Given the description of an element on the screen output the (x, y) to click on. 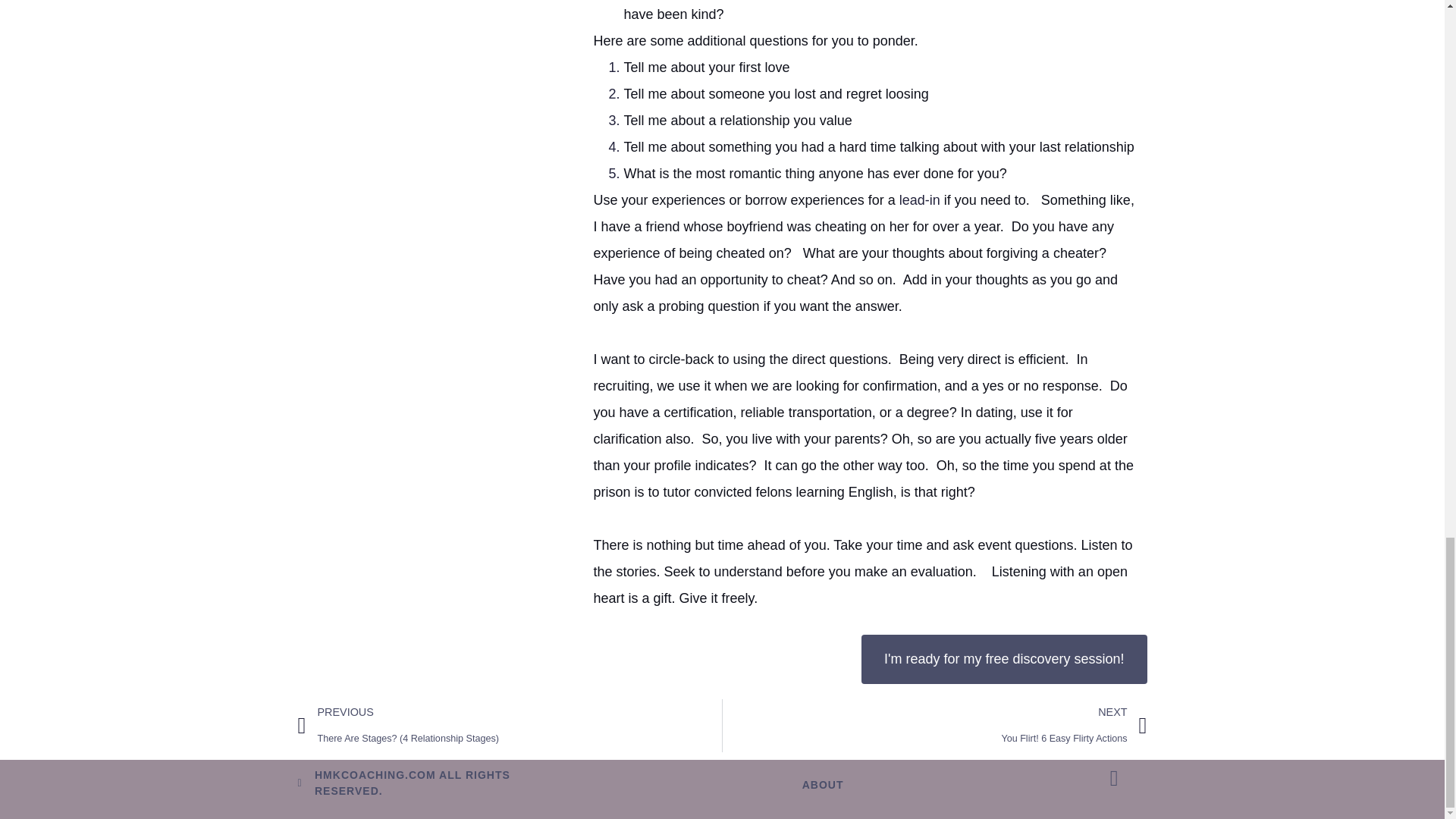
I'm ready for my free discovery session! (934, 725)
ABOUT (1004, 658)
